Given the description of an element on the screen output the (x, y) to click on. 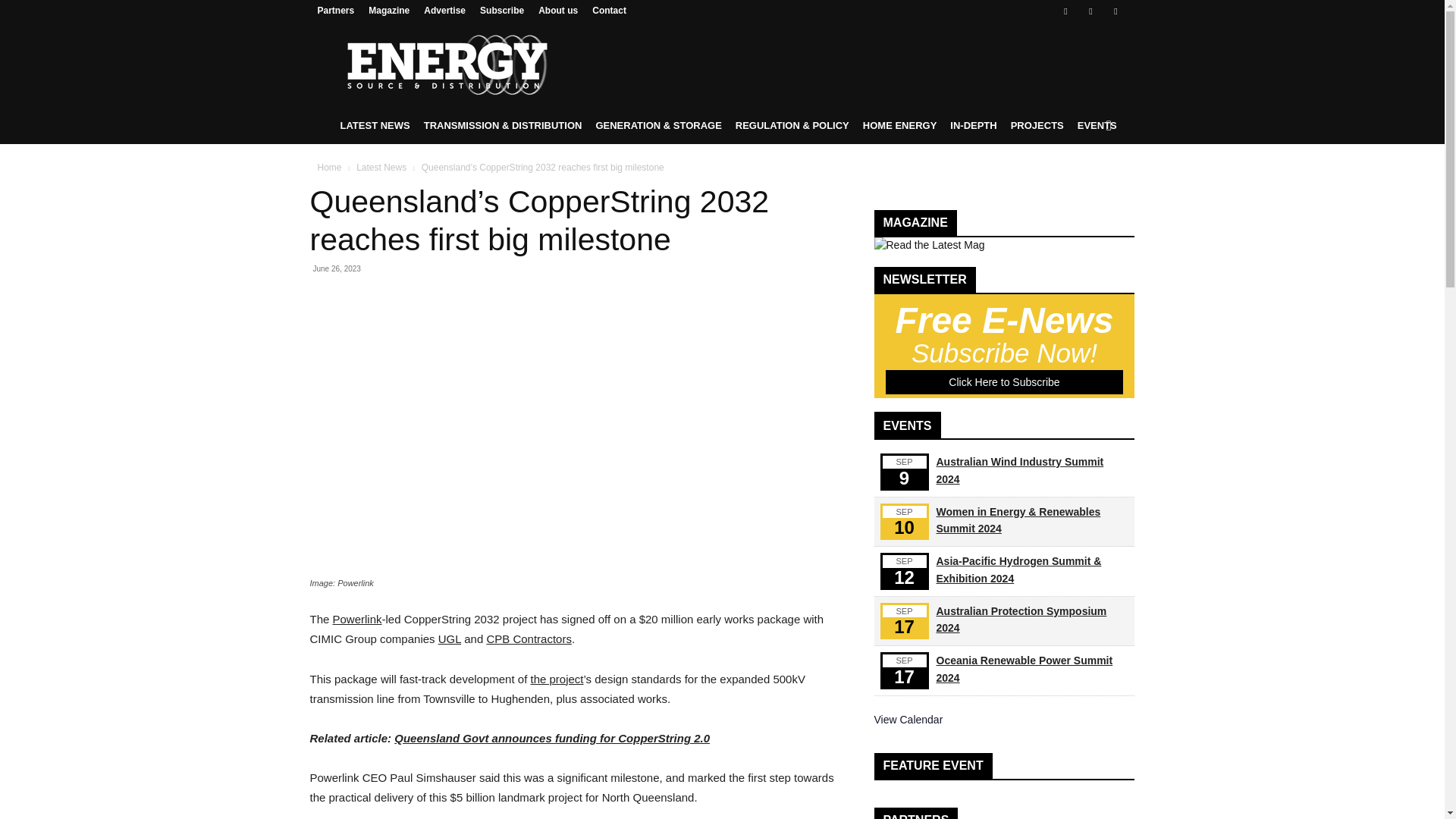
HOME ENERGY (899, 125)
Facebook (1065, 10)
View all posts in Latest News (381, 167)
Latest News (381, 167)
Search (1085, 186)
Linkedin (1090, 10)
IN-DEPTH (973, 125)
Contact (609, 9)
EVENTS (1097, 125)
Advertise (444, 9)
